Given the description of an element on the screen output the (x, y) to click on. 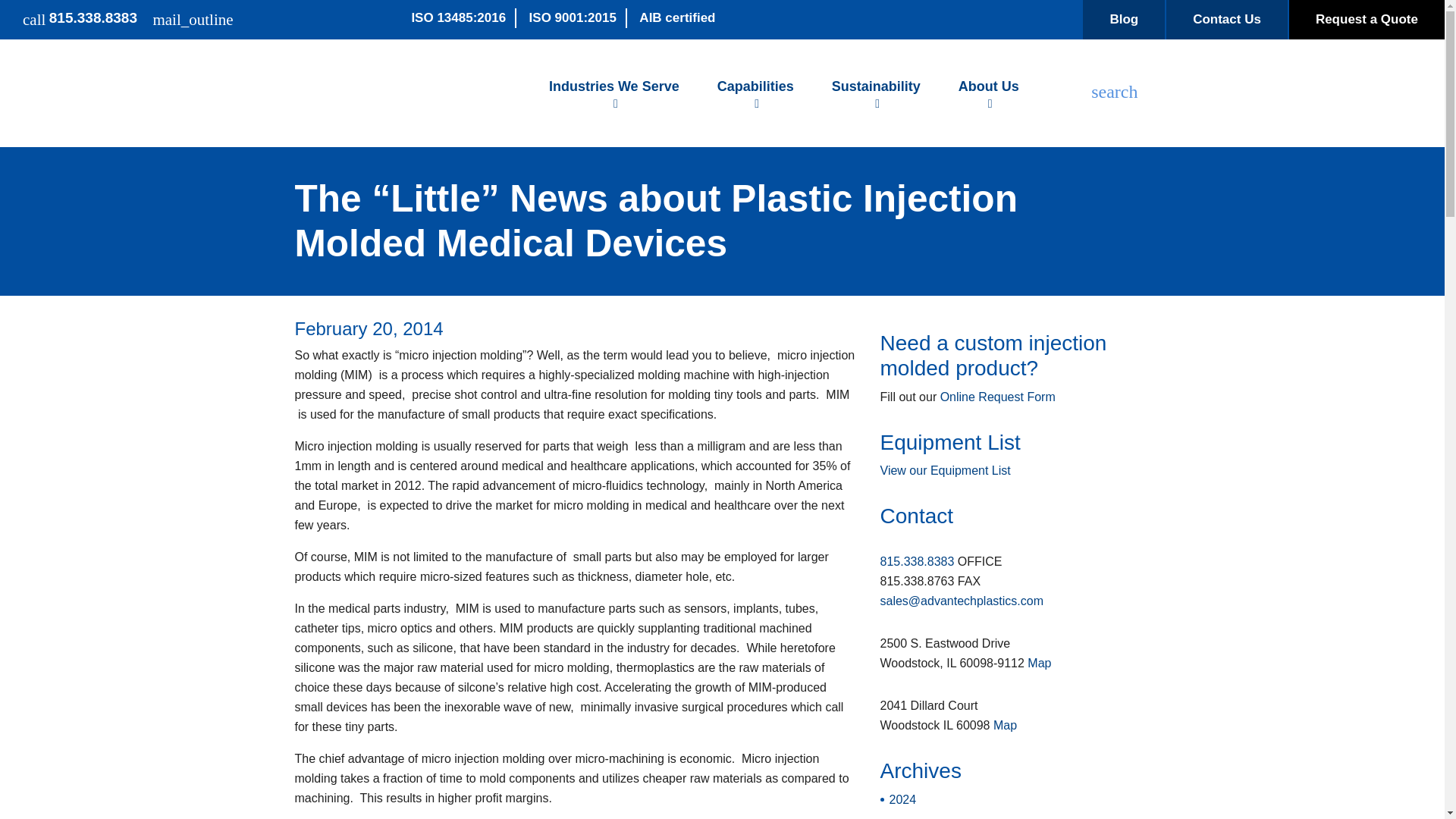
Blog (1123, 19)
Contact Us (1226, 19)
About Us (988, 92)
ISO 9001:2015 (572, 17)
ISO 13485:2016 (458, 17)
Industries We Serve (613, 92)
AdvanTech Plastics, LLC (390, 92)
Contact Us (1226, 19)
Capabilities (755, 92)
Blog (1123, 19)
AIB certified (676, 17)
Email Us (192, 19)
call 815.338.8383 (79, 18)
Sustainability (875, 92)
Industries We Serve (613, 92)
